Given the description of an element on the screen output the (x, y) to click on. 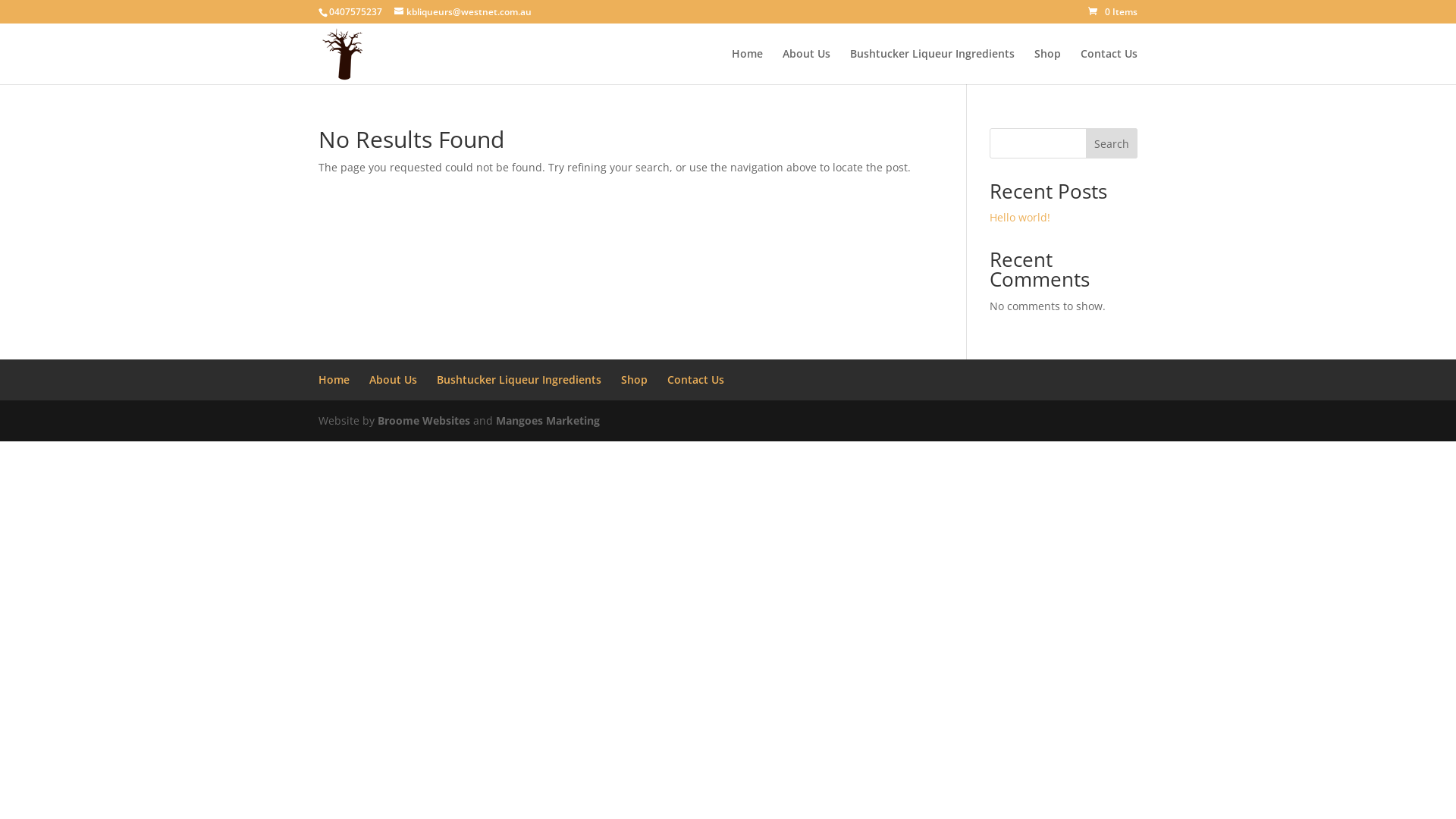
Bushtucker Liqueur Ingredients Element type: text (518, 379)
Contact Us Element type: text (1108, 66)
Shop Element type: text (634, 379)
About Us Element type: text (806, 66)
About Us Element type: text (393, 379)
0 Items Element type: text (1112, 11)
Home Element type: text (746, 66)
Bushtucker Liqueur Ingredients Element type: text (932, 66)
Broome Websites Element type: text (423, 420)
Mangoes Marketing Element type: text (547, 420)
Home Element type: text (333, 379)
kbliqueurs@westnet.com.au Element type: text (462, 11)
Shop Element type: text (1047, 66)
Search Element type: text (1111, 143)
Hello world! Element type: text (1019, 217)
Contact Us Element type: text (695, 379)
